Given the description of an element on the screen output the (x, y) to click on. 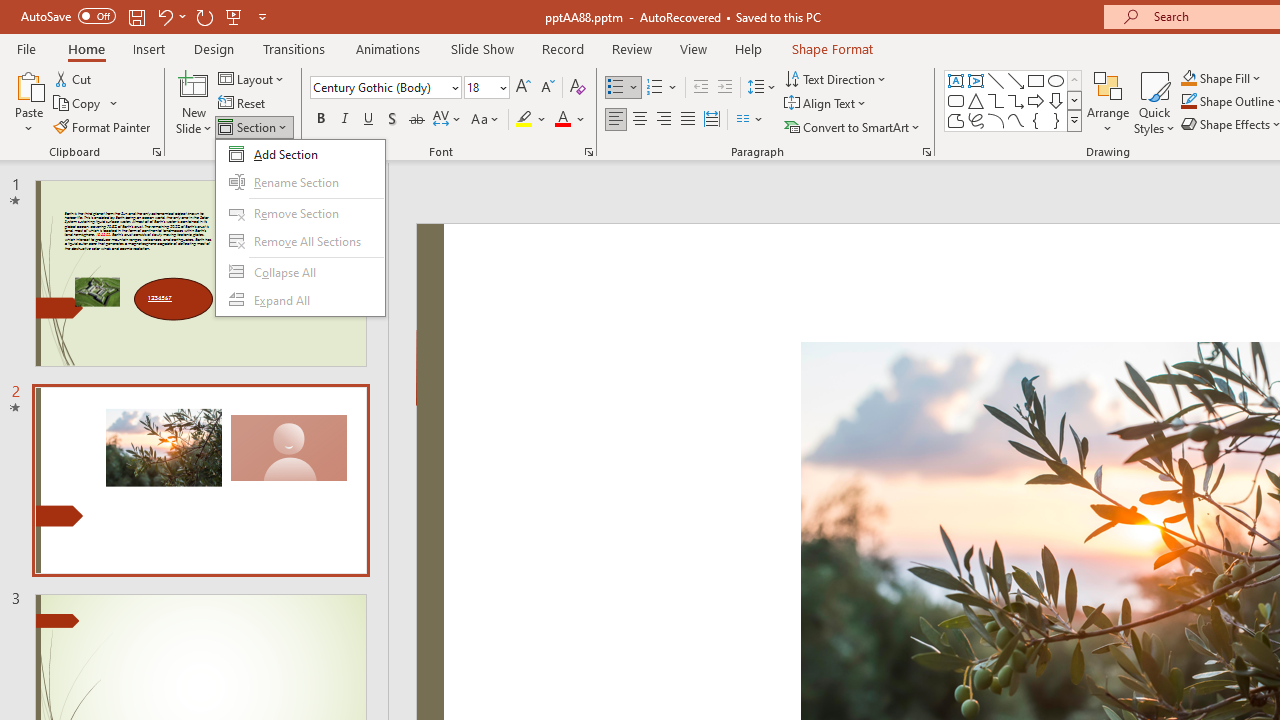
&Section (300, 227)
